Given the description of an element on the screen output the (x, y) to click on. 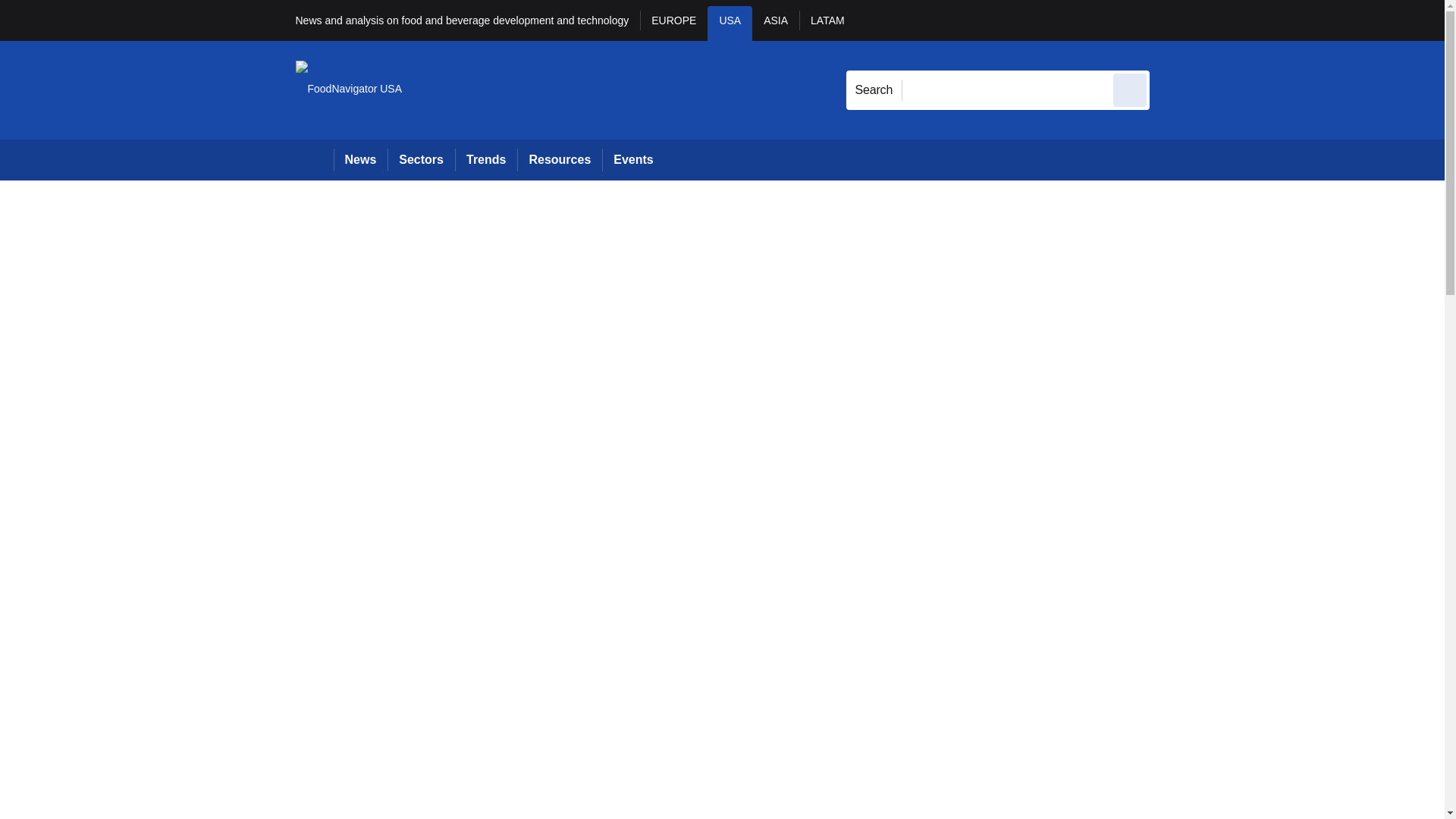
REGISTER (1250, 20)
ASIA (775, 22)
LATAM (827, 22)
Sign out (1174, 20)
Home (314, 159)
Home (313, 159)
FoodNavigator USA (349, 89)
USA (729, 22)
News (360, 159)
Send (1129, 89)
